Given the description of an element on the screen output the (x, y) to click on. 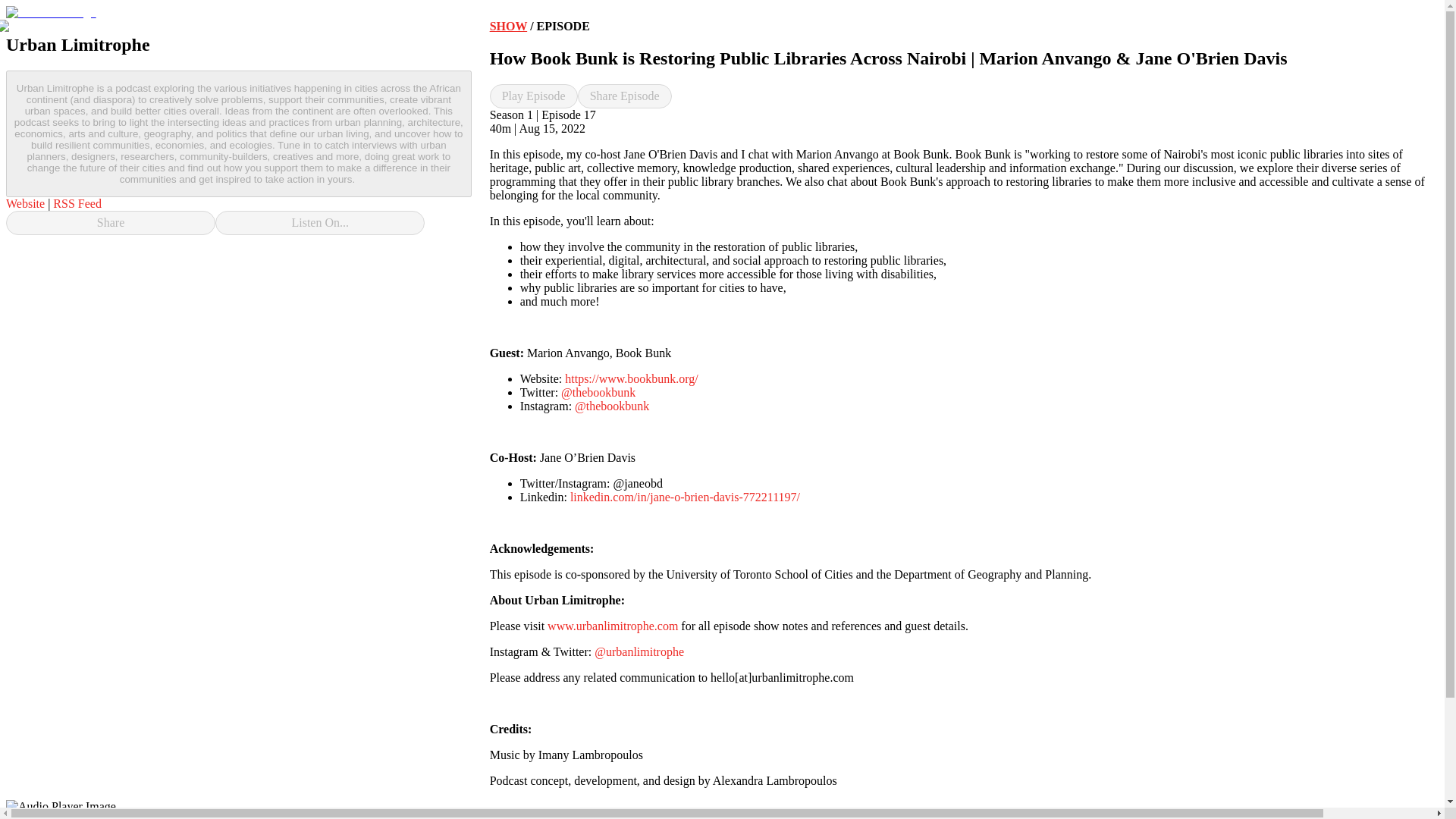
Urban Limitrophe (49, 816)
SHOW (508, 25)
RSS Feed (76, 203)
Share Episode (624, 96)
Listen On... (320, 222)
www.urbanlimitrophe.com (612, 625)
Website (25, 203)
Play Episode (533, 96)
Share (110, 222)
